Given the description of an element on the screen output the (x, y) to click on. 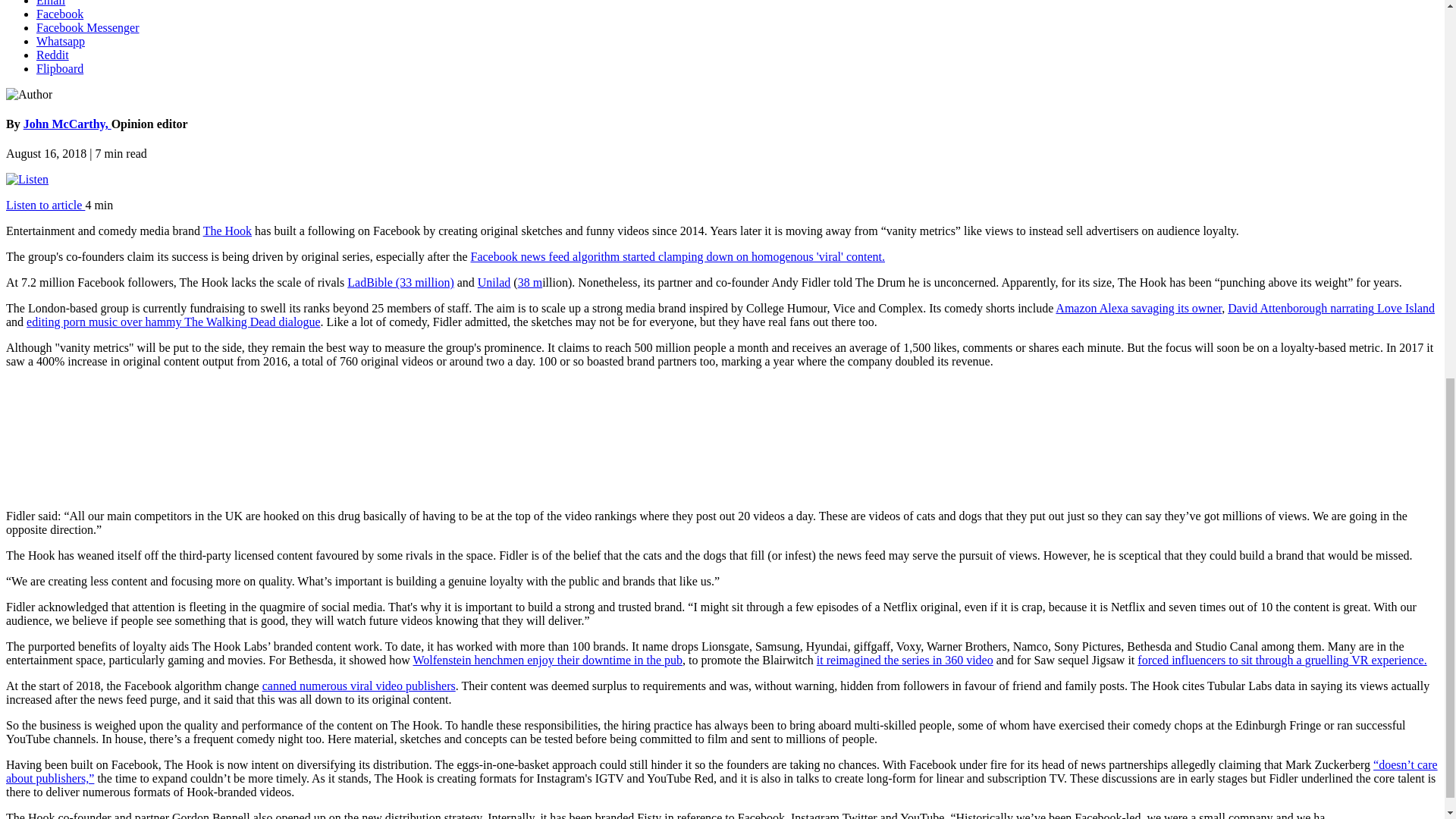
forced influencers to sit through a (1220, 659)
Flipboard (59, 68)
Reddit (52, 54)
Listen to article (44, 205)
it reimagined the series in 360 video (904, 659)
VR experience. (1387, 659)
Amazon Alexa savaging its owner (1138, 308)
gruelling (1326, 659)
John McCarthy, (67, 123)
David Attenborough (1278, 308)
The Hook (227, 230)
canned numerous viral video publishers (358, 685)
editing porn music over hammy The Walking Dead dialogue (173, 321)
Email (50, 3)
Facebook (59, 13)
